Given the description of an element on the screen output the (x, y) to click on. 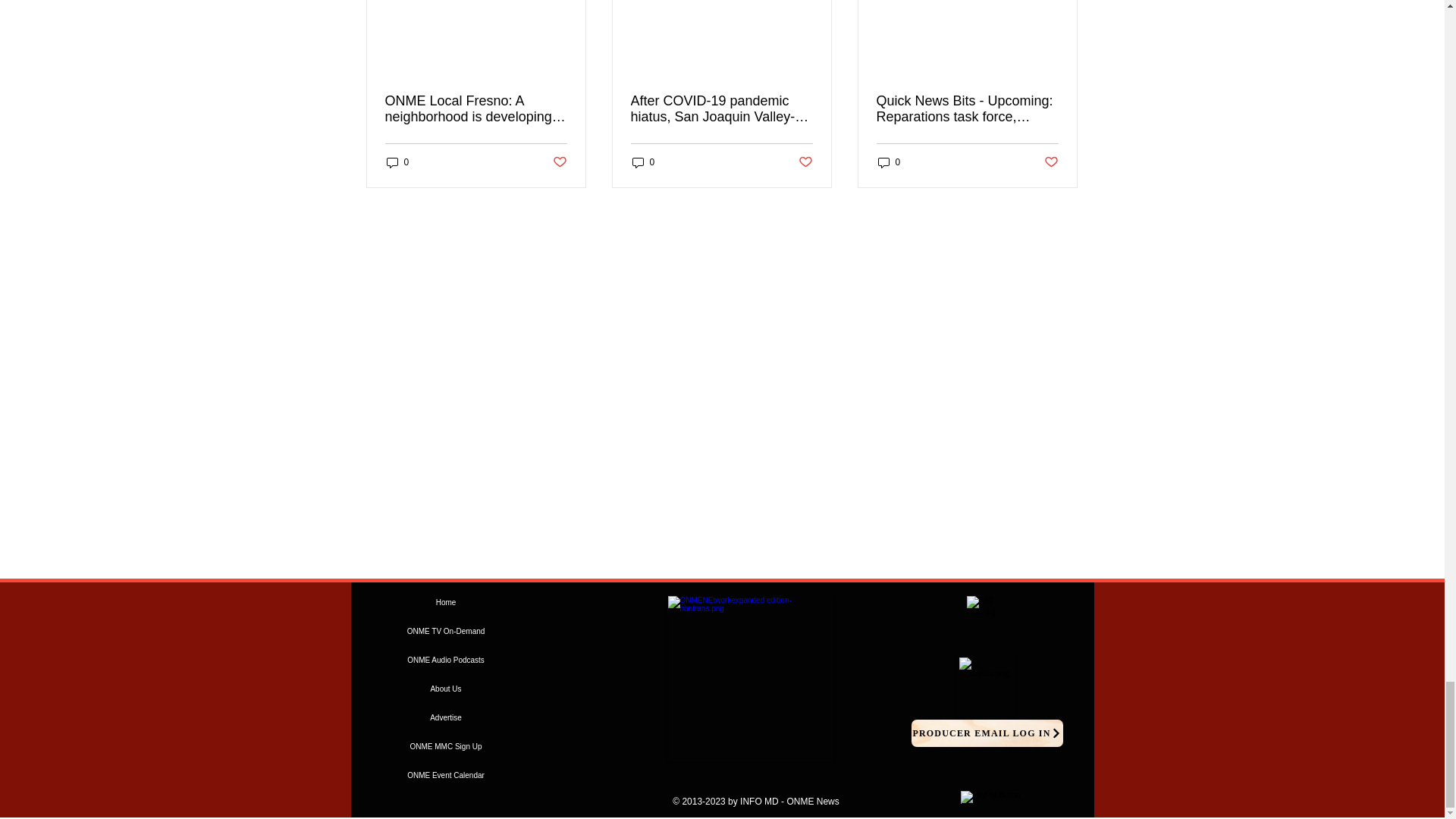
ONMElogoNew1-nontrans.png (749, 678)
